Given the description of an element on the screen output the (x, y) to click on. 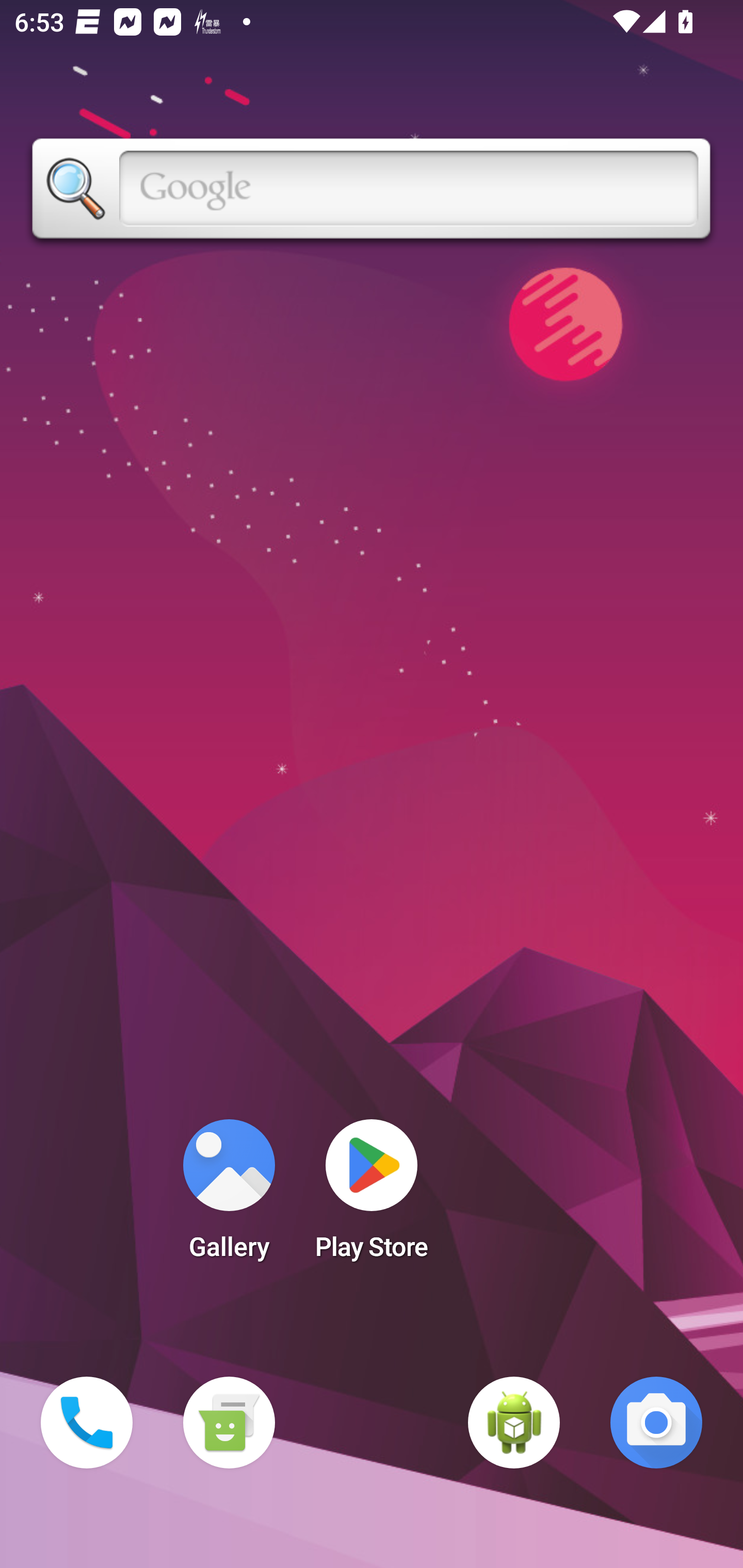
Gallery (228, 1195)
Play Store (371, 1195)
Phone (86, 1422)
Messaging (228, 1422)
WebView Browser Tester (513, 1422)
Camera (656, 1422)
